Given the description of an element on the screen output the (x, y) to click on. 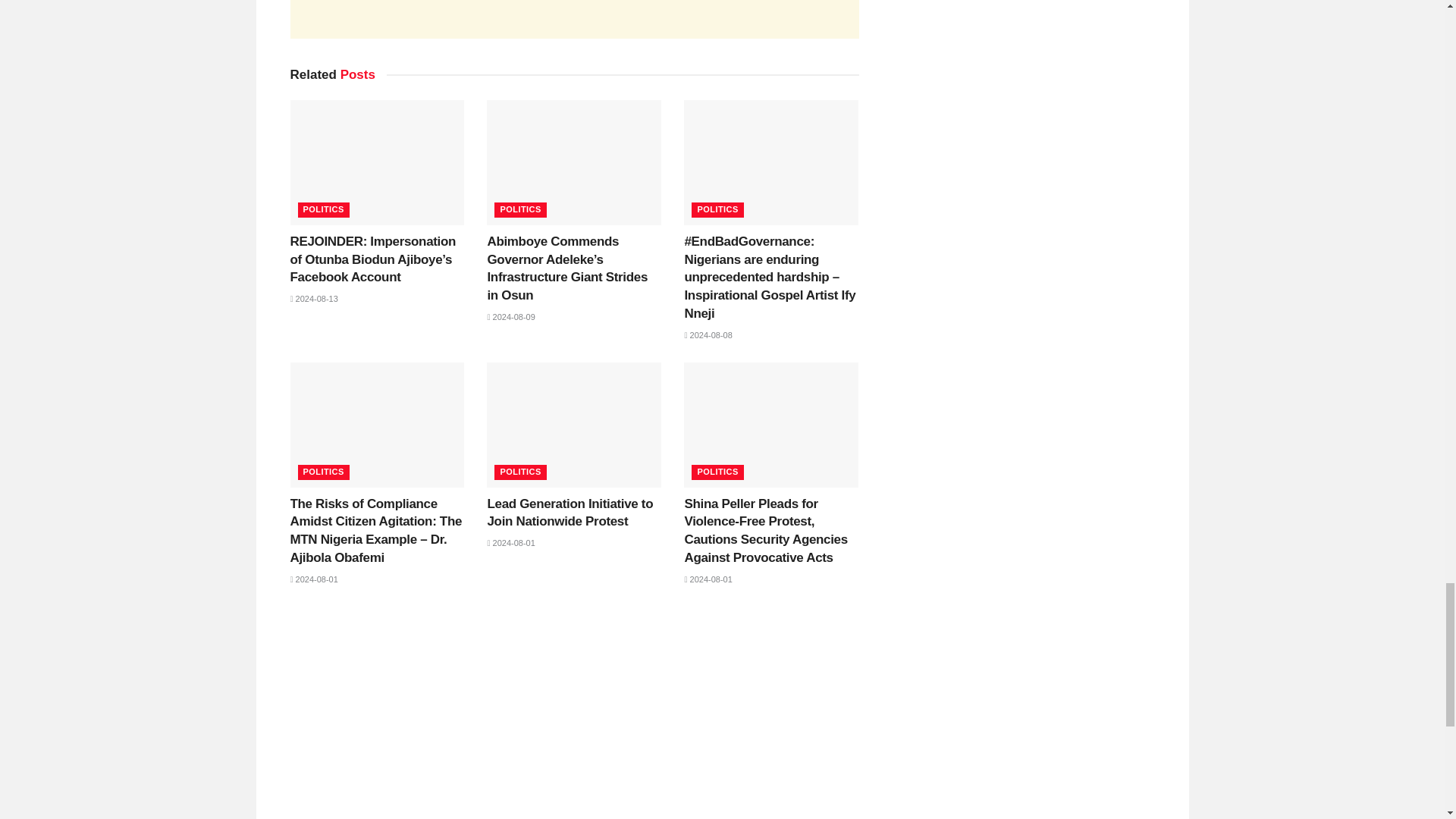
Advertisement (574, 19)
POLITICS (323, 209)
2024-08-09 (510, 316)
POLITICS (520, 209)
2024-08-13 (313, 298)
POLITICS (716, 209)
